Given the description of an element on the screen output the (x, y) to click on. 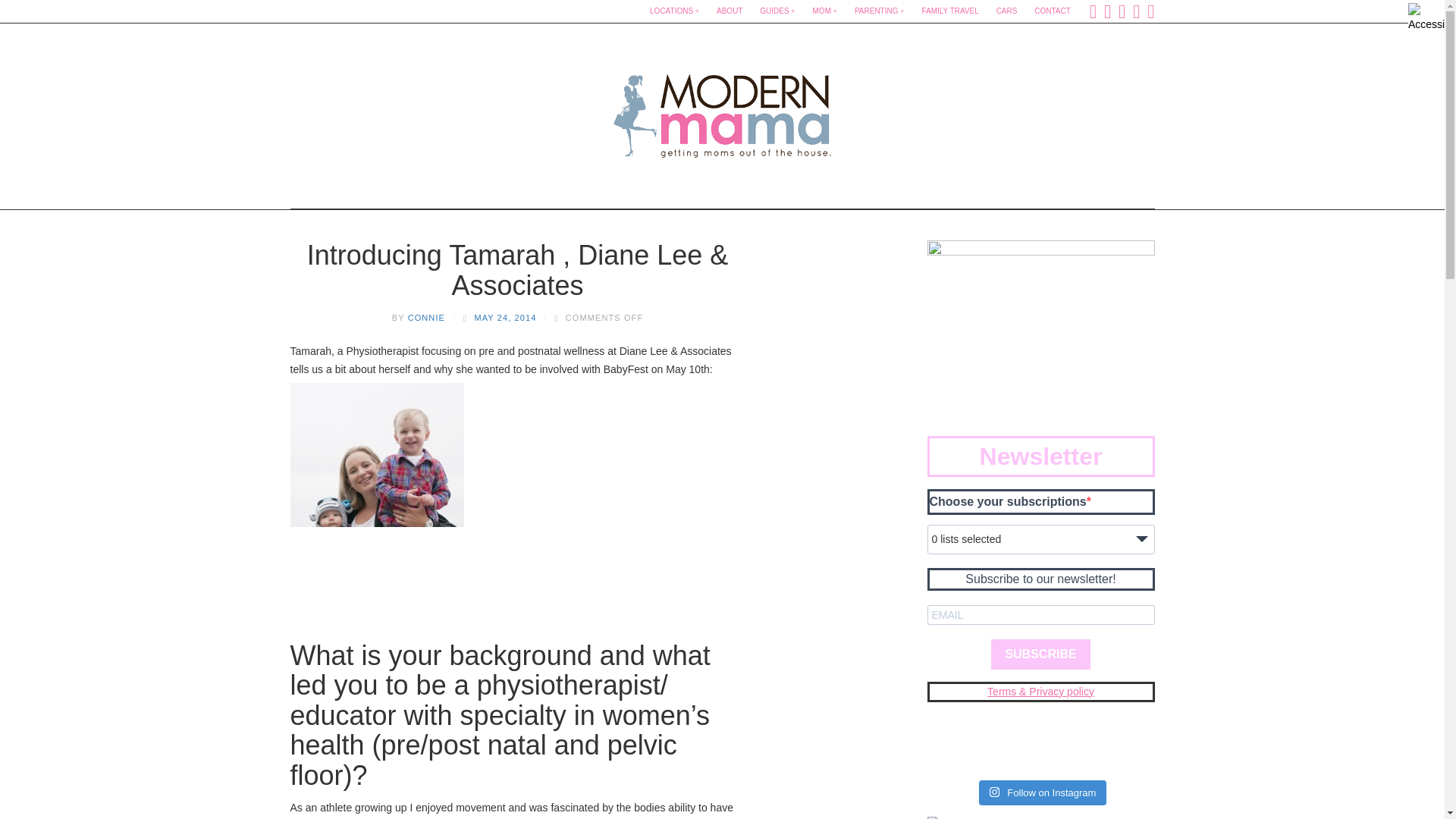
GUIDES (777, 11)
LOCATIONS (674, 11)
ABOUT (729, 11)
CONNIE (426, 317)
10:40 pm (504, 317)
MOM (825, 11)
MAY 24, 2014 (504, 317)
Modern Mama (722, 111)
CARS (1006, 11)
FAMILY TRAVEL (949, 11)
